Given the description of an element on the screen output the (x, y) to click on. 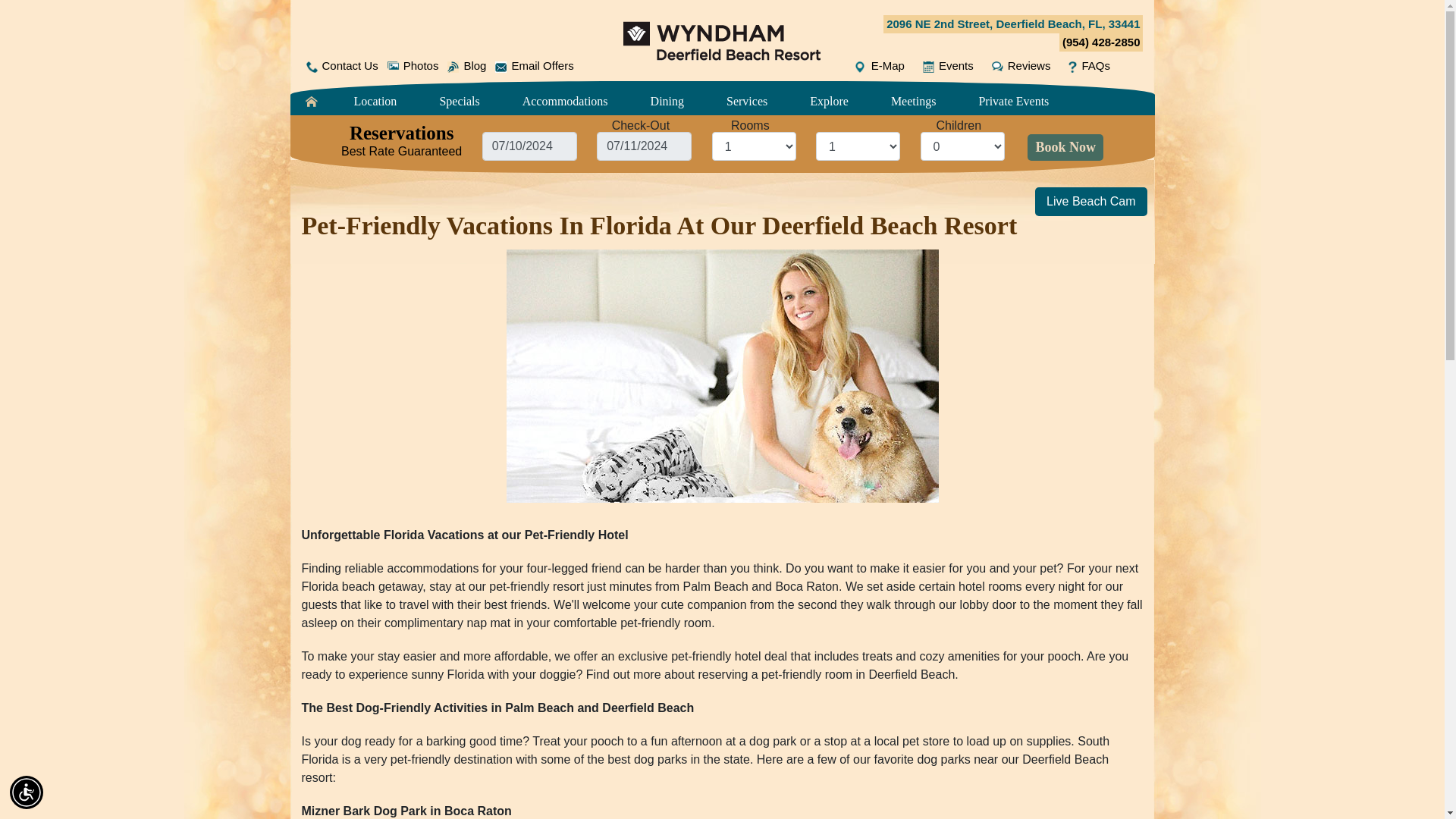
Contact Us (341, 66)
2096 NE 2nd Street, Deerfield Beach, FL, 33441 (1012, 24)
Events (948, 66)
Accessibility Menu (26, 792)
Email Offers (534, 66)
Skip to main content (721, 1)
Reviews (1020, 66)
FAQs (1089, 66)
Blog (466, 66)
Photos (413, 66)
E-Map (879, 66)
